Given the description of an element on the screen output the (x, y) to click on. 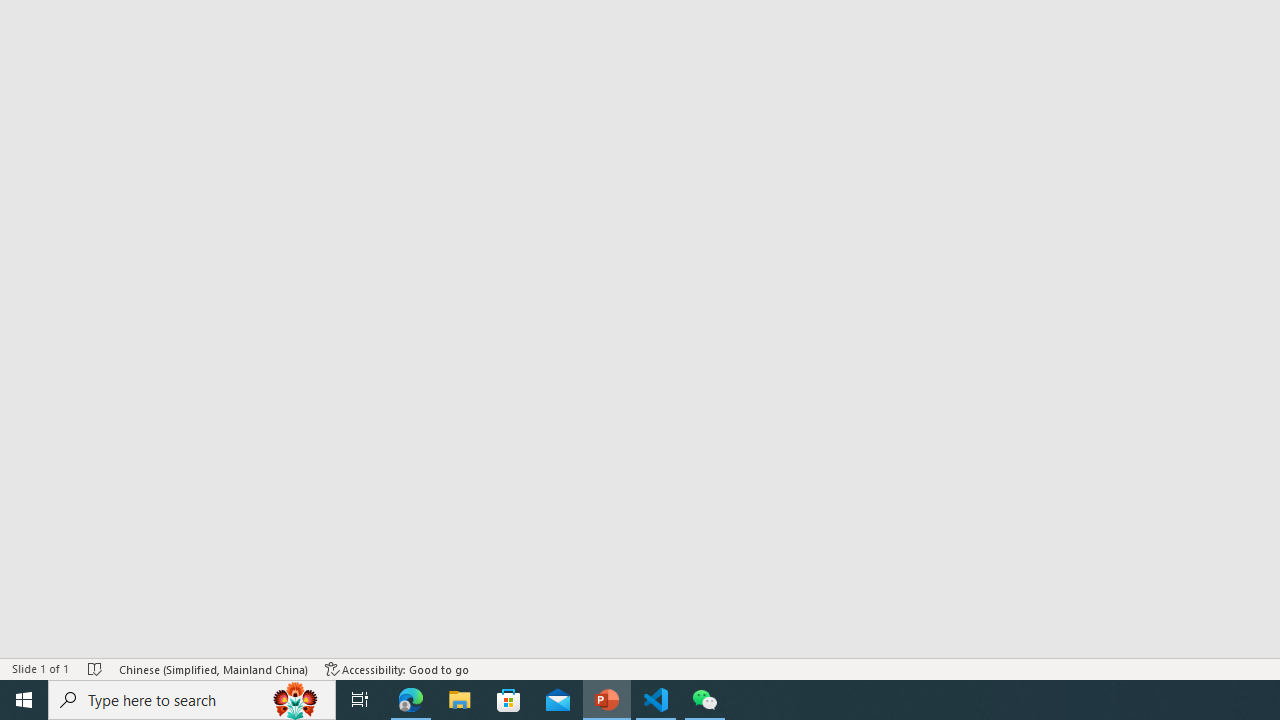
Accessibility Checker Accessibility: Good to go (397, 668)
